Given the description of an element on the screen output the (x, y) to click on. 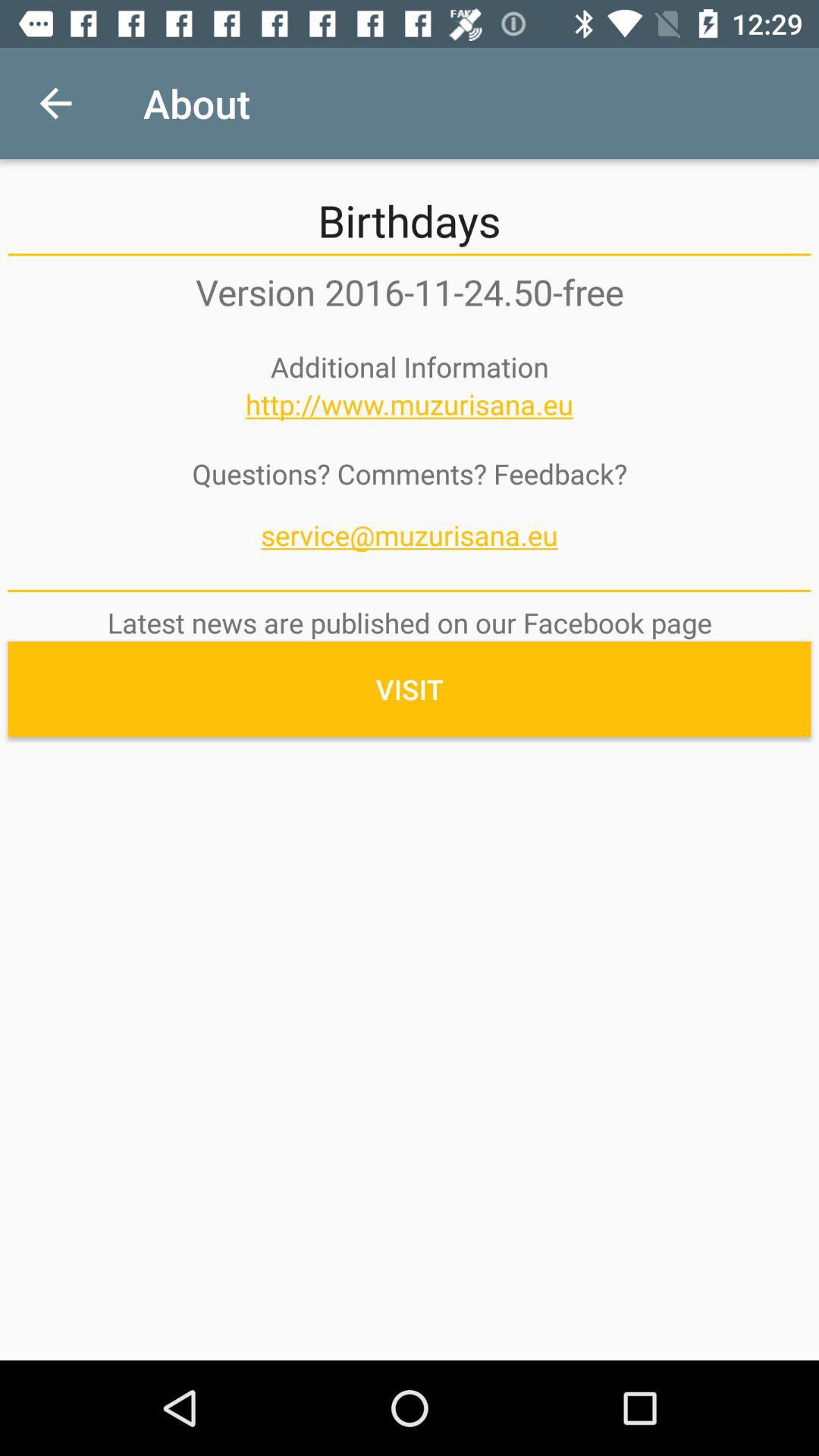
select the item below the additional information (409, 404)
